Given the description of an element on the screen output the (x, y) to click on. 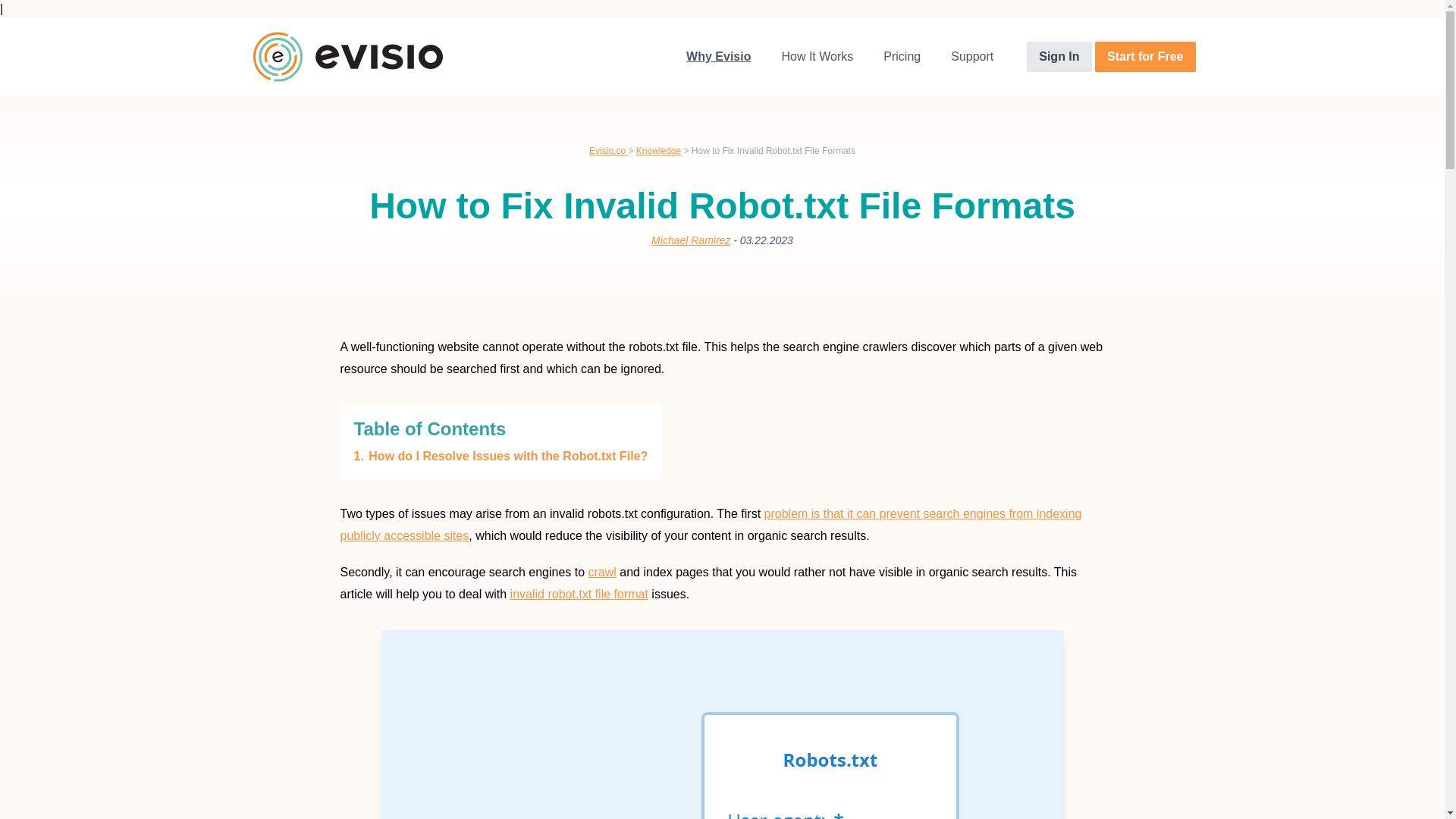
invalid robot.txt file format (579, 594)
Start for Free (1144, 56)
crawl (601, 571)
Michael Ramirez (690, 239)
Why Evisio (718, 56)
Sign In (1058, 56)
1. How do I Resolve Issues with the Robot.txt File? (500, 455)
Go to Evisio.co. (608, 150)
Knowledge (658, 150)
